Given the description of an element on the screen output the (x, y) to click on. 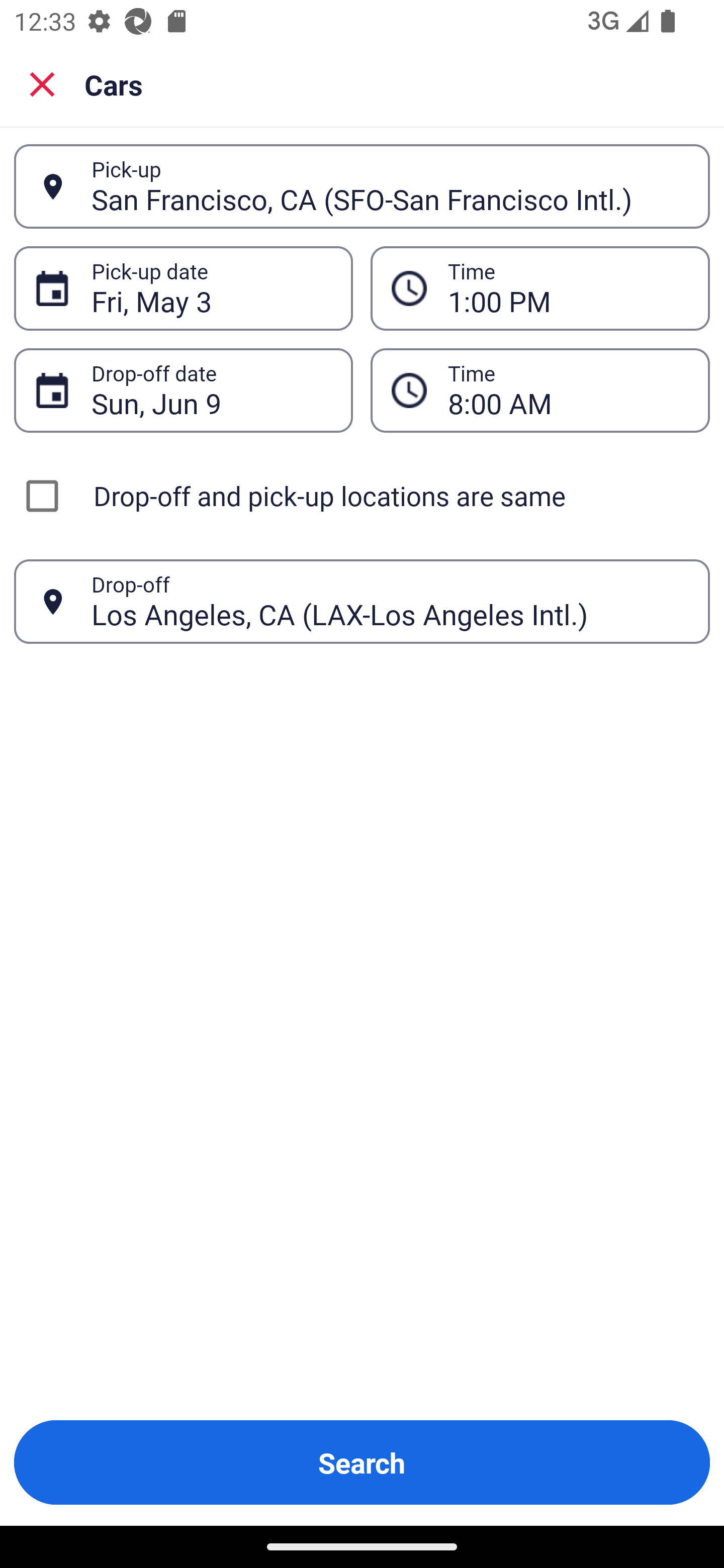
Close search screen (42, 84)
San Francisco, CA (SFO-San Francisco Intl.) (389, 186)
Fri, May 3 (211, 288)
1:00 PM (568, 288)
Sun, Jun 9 (211, 390)
8:00 AM (568, 390)
Drop-off and pick-up locations are same (361, 495)
Los Angeles, CA (LAX-Los Angeles Intl.) (389, 601)
Search Button Search (361, 1462)
